Given the description of an element on the screen output the (x, y) to click on. 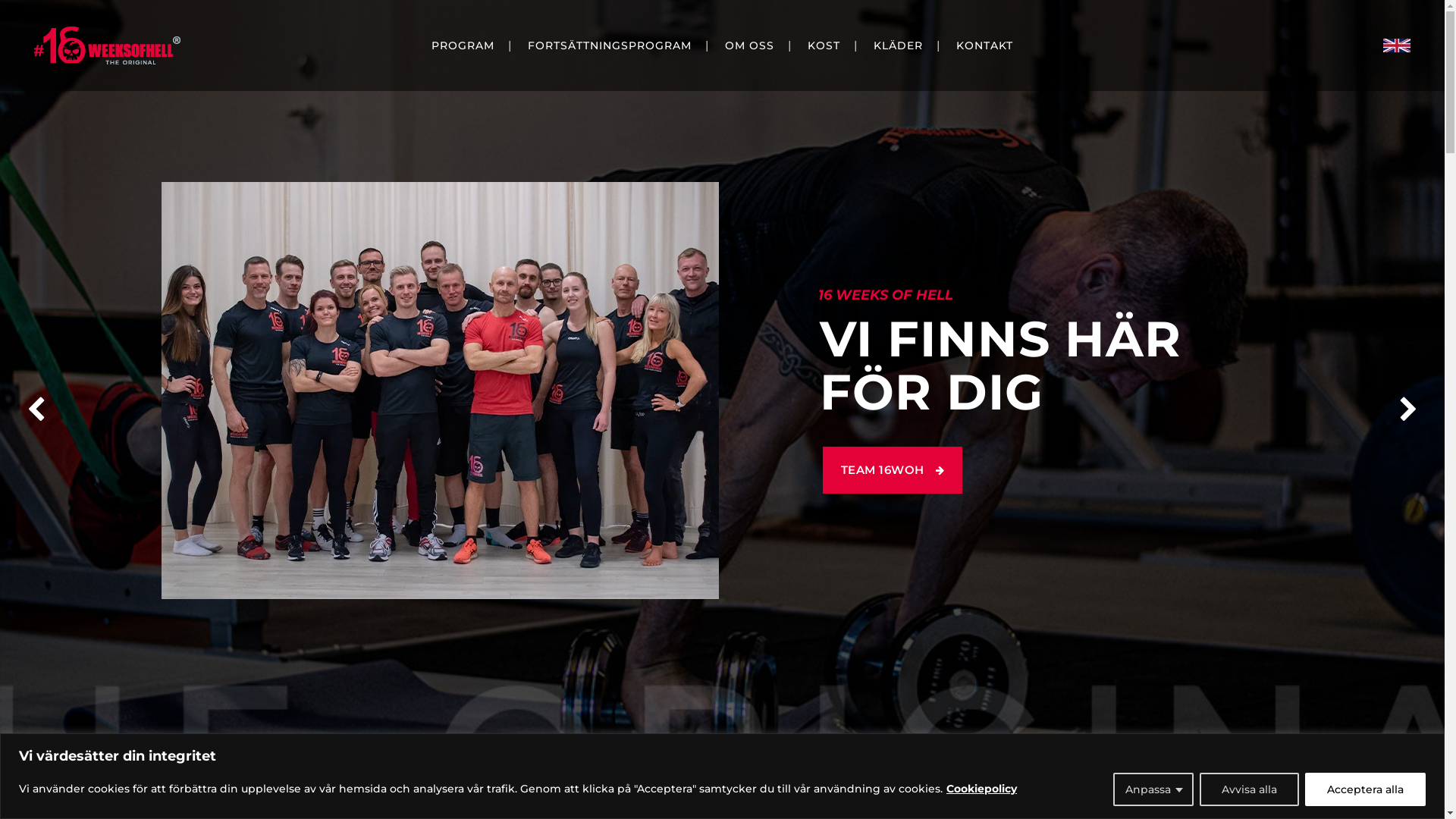
Avvisa alla Element type: text (1249, 788)
Acceptera alla Element type: text (1365, 788)
OM OSS Element type: text (749, 45)
Anpassa Element type: text (1153, 788)
KOST Element type: text (823, 45)
Cookiepolicy Element type: text (981, 788)
KONTAKT Element type: text (984, 45)
PROGRAM Element type: text (462, 45)
